Given the description of an element on the screen output the (x, y) to click on. 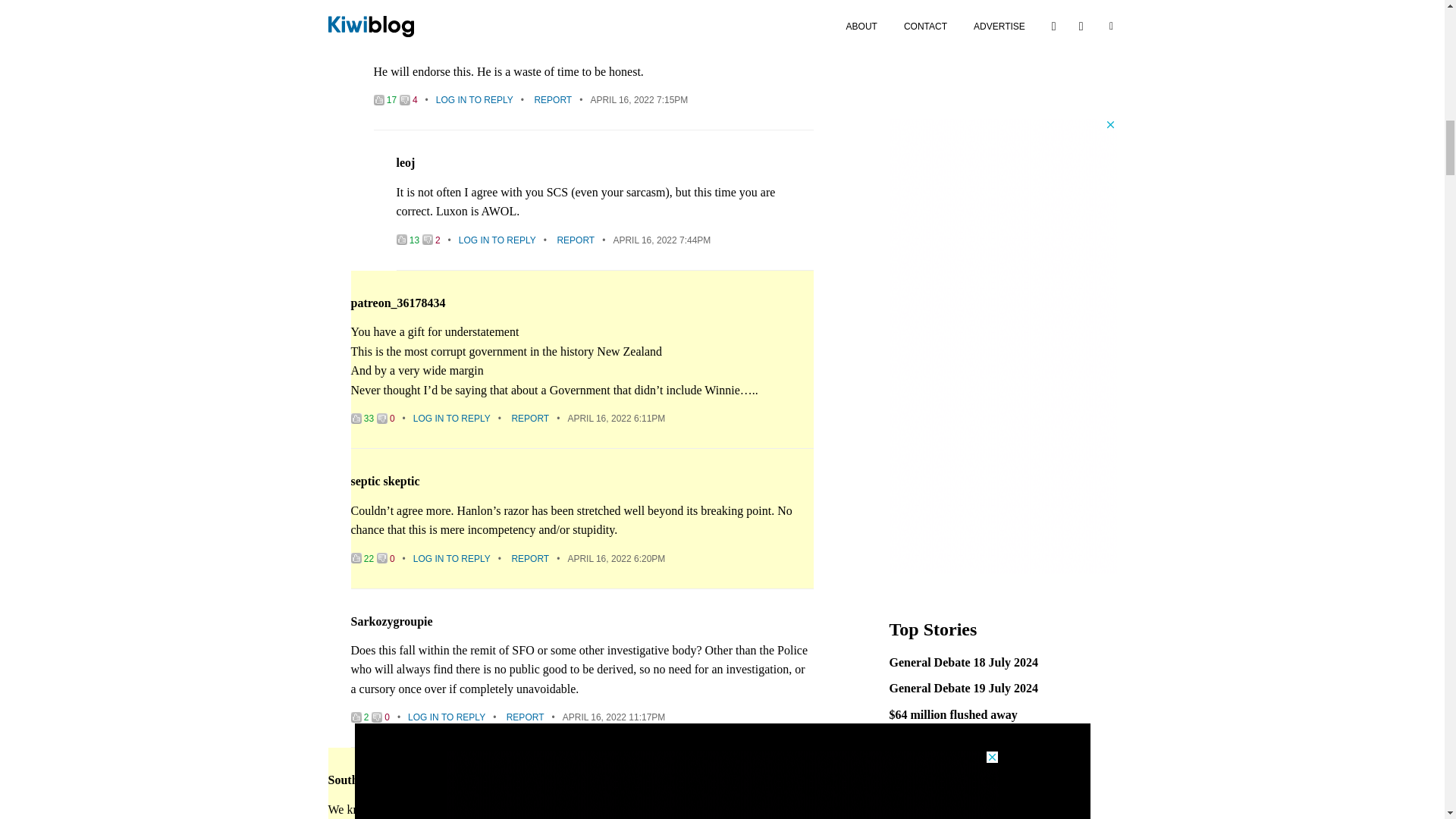
LOG IN TO REPLY (474, 100)
REPORT (575, 240)
APRIL 16, 2022 7:15PM (638, 100)
REPORT (553, 100)
LOG IN TO REPLY (496, 240)
